Given the description of an element on the screen output the (x, y) to click on. 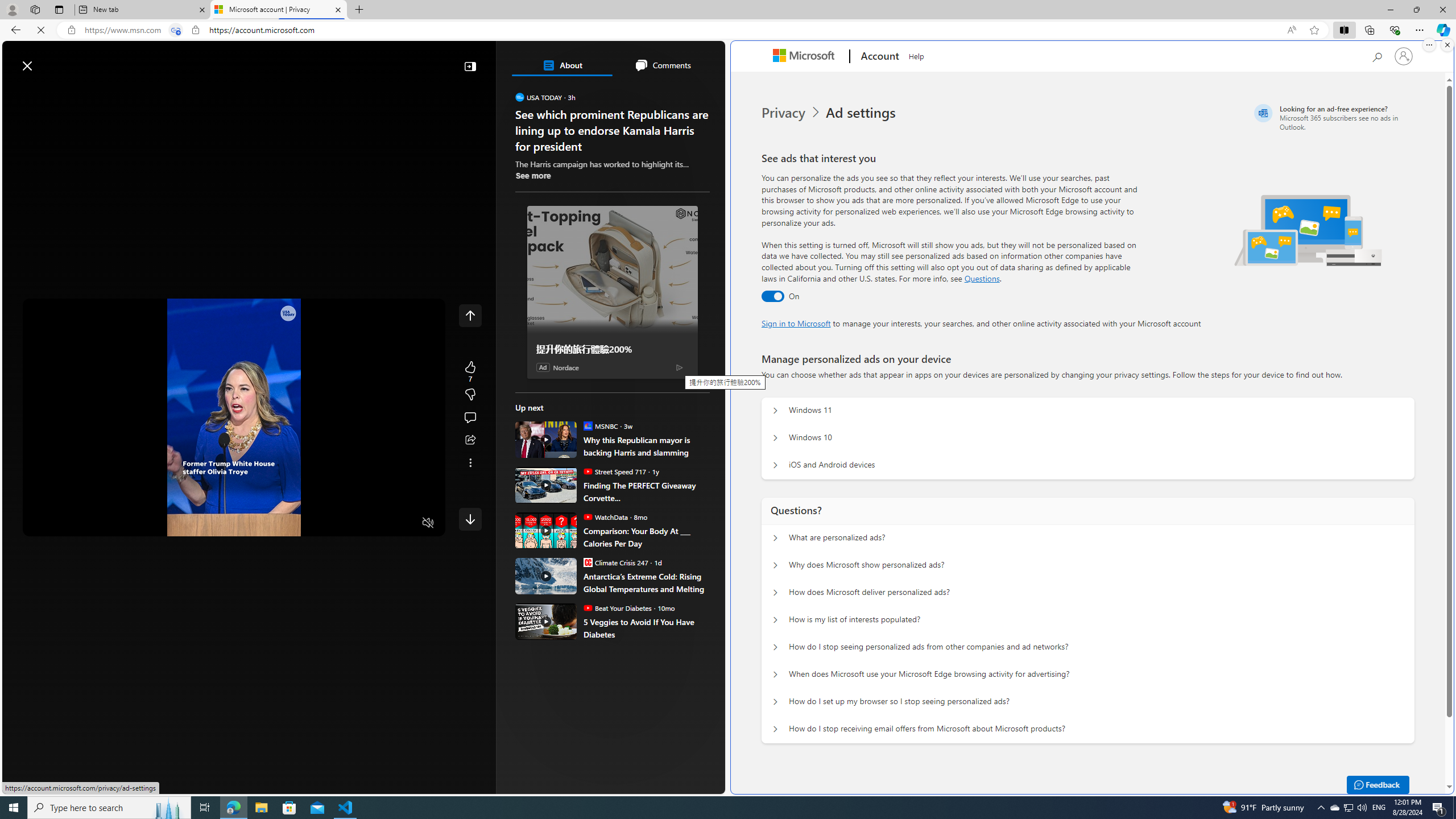
Captions (383, 523)
Looking for an ad-free experience? (1331, 117)
Class: button-glyph (16, 92)
Tabs in split screen (175, 29)
Questions? How does Microsoft deliver personalized ads? (775, 592)
